Given the description of an element on the screen output the (x, y) to click on. 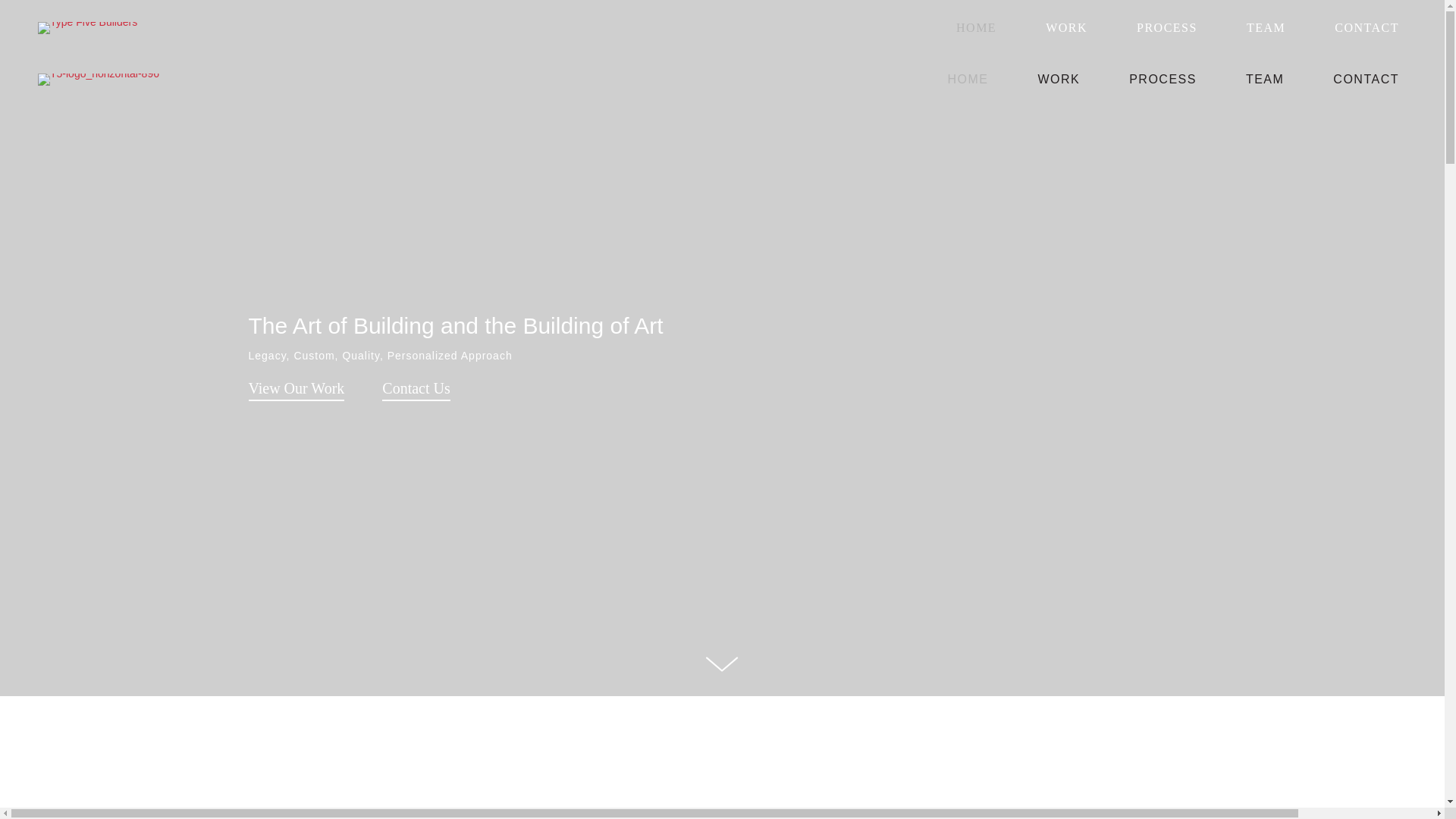
HOME (967, 79)
PROCESS (1167, 27)
CONTACT (1366, 27)
TEAM (1265, 27)
TEAM (1265, 79)
CONTACT (1365, 79)
WORK (1066, 27)
PROCESS (1162, 79)
HOME (976, 27)
WORK (1058, 79)
